Given the description of an element on the screen output the (x, y) to click on. 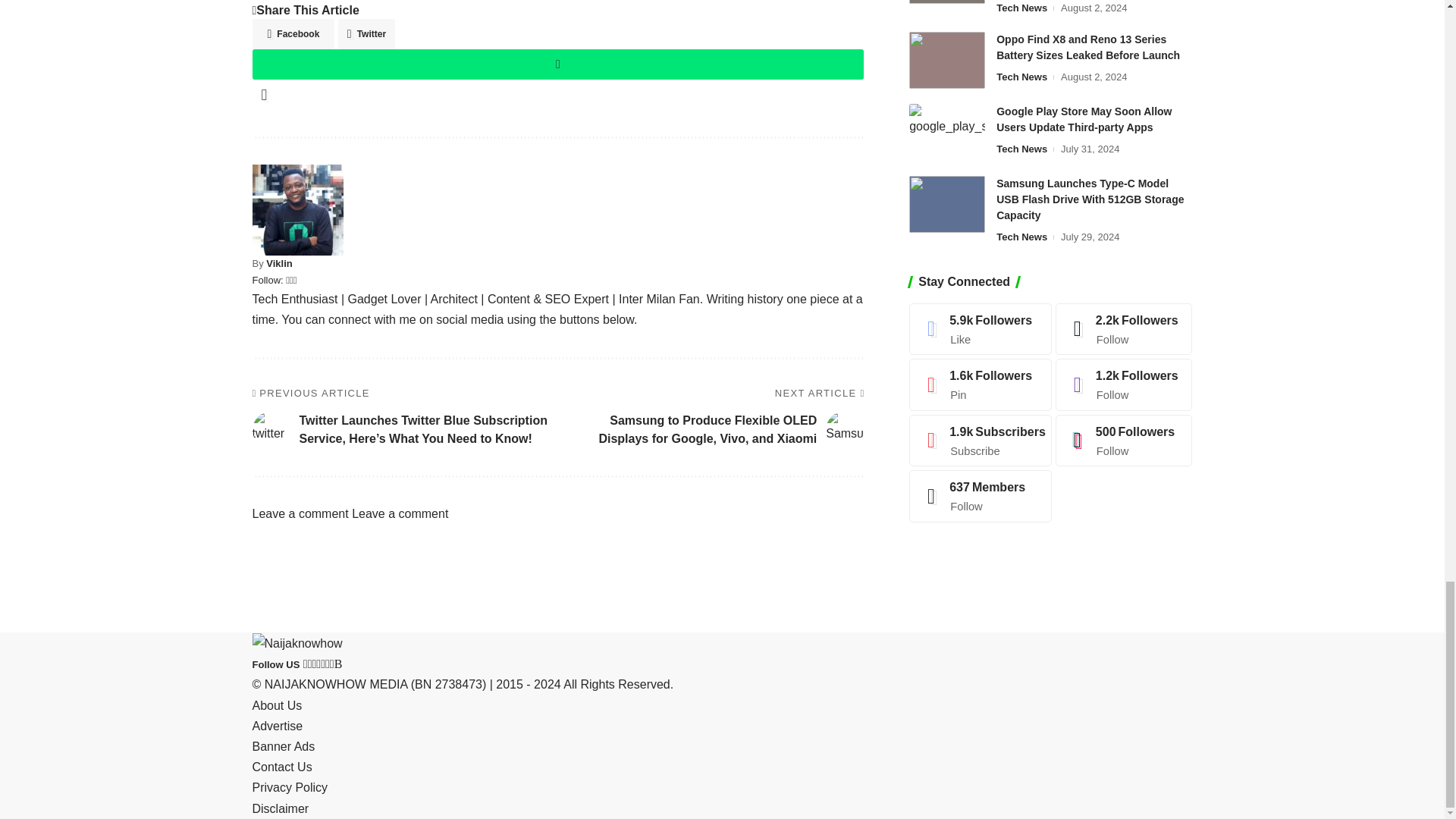
Naijaknowhow (296, 642)
